Given the description of an element on the screen output the (x, y) to click on. 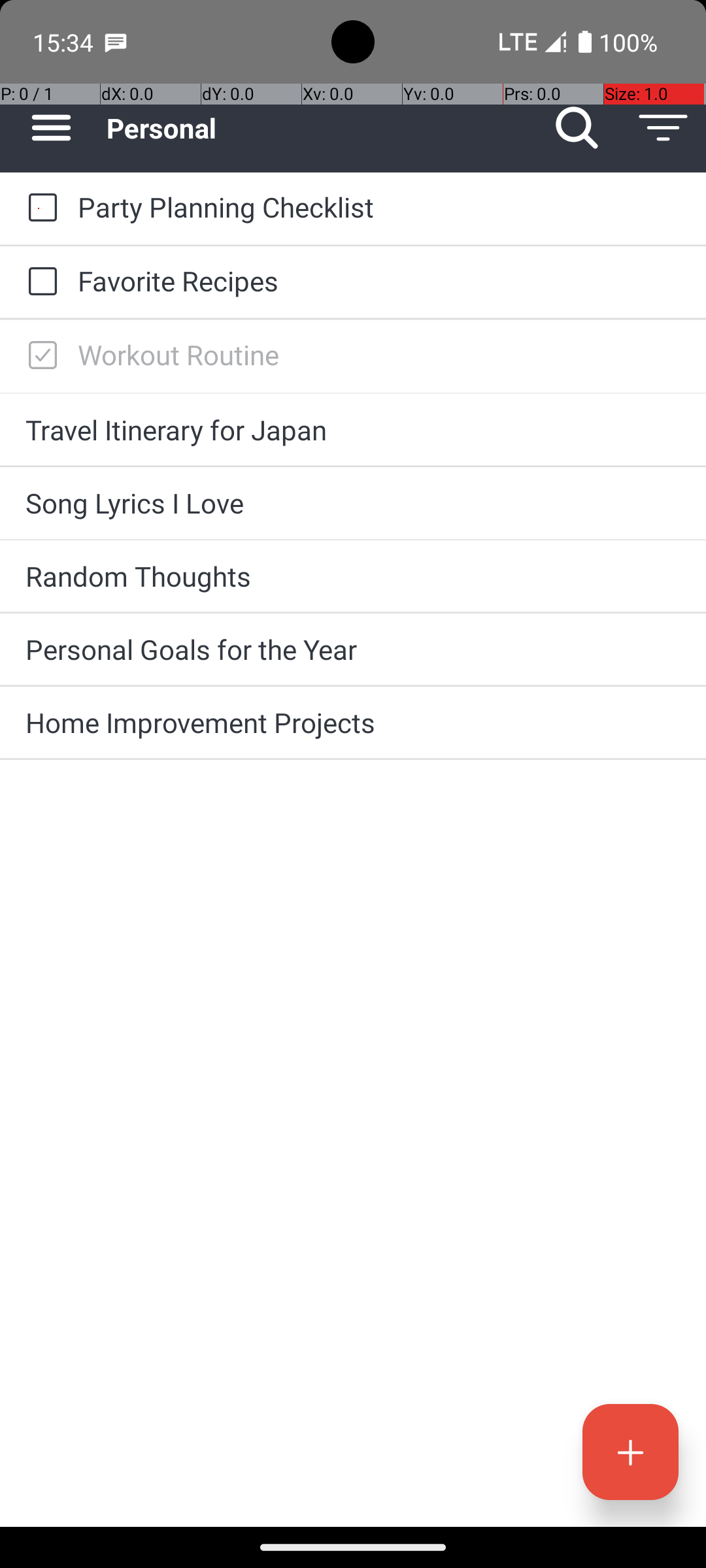
to-do: Party Planning Checklist Element type: android.widget.CheckBox (38, 208)
Party Planning Checklist Element type: android.widget.TextView (378, 206)
to-do: Favorite Recipes Element type: android.widget.CheckBox (38, 282)
Favorite Recipes Element type: android.widget.TextView (378, 280)
to-do: Workout Routine Element type: android.widget.CheckBox (38, 356)
Workout Routine Element type: android.widget.TextView (378, 354)
Travel Itinerary for Japan Element type: android.widget.TextView (352, 429)
Song Lyrics I Love Element type: android.widget.TextView (352, 502)
Random Thoughts Element type: android.widget.TextView (352, 575)
Personal Goals for the Year Element type: android.widget.TextView (352, 648)
Home Improvement Projects Element type: android.widget.TextView (352, 721)
